Given the description of an element on the screen output the (x, y) to click on. 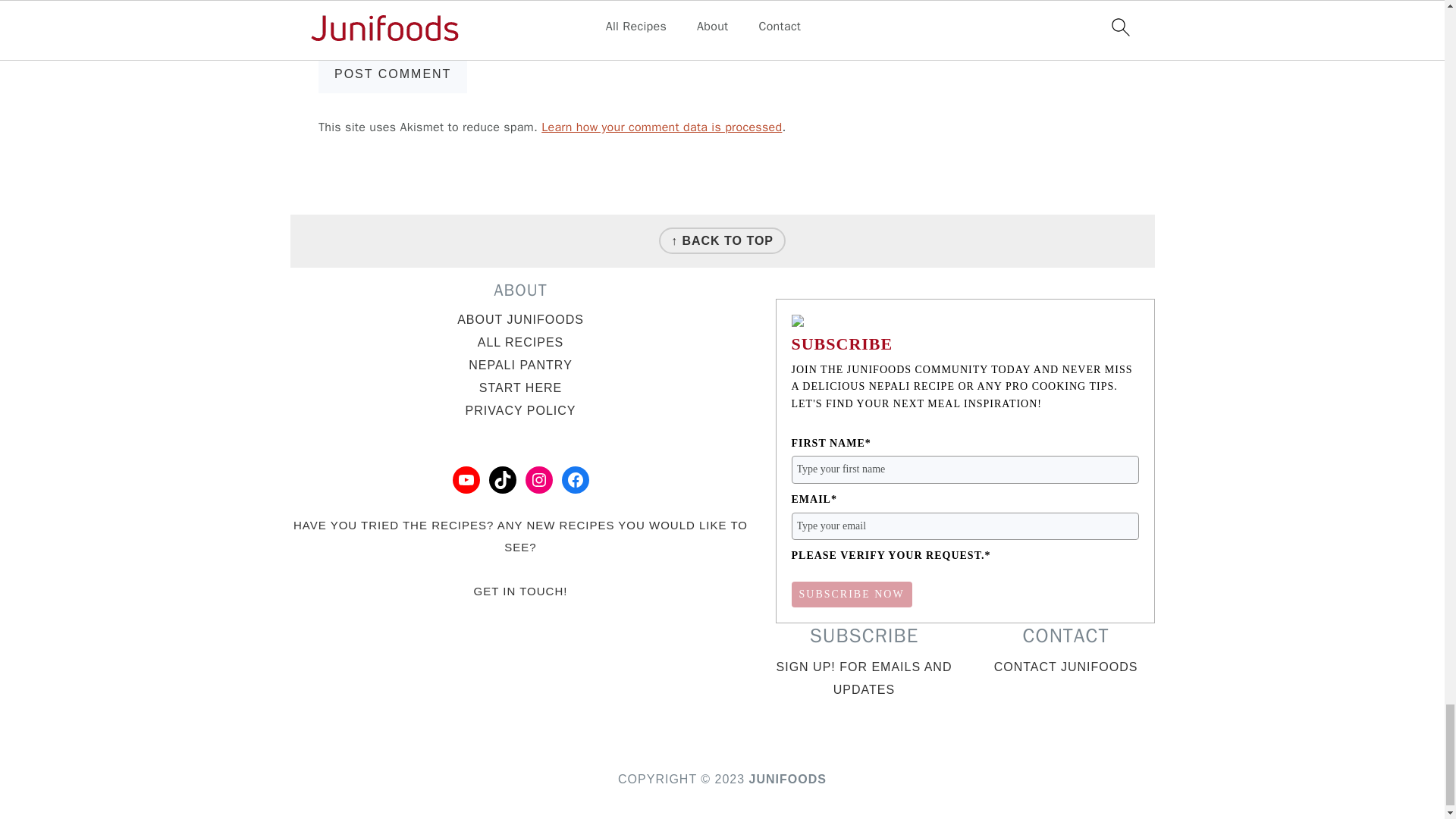
Post Comment (392, 74)
